Given the description of an element on the screen output the (x, y) to click on. 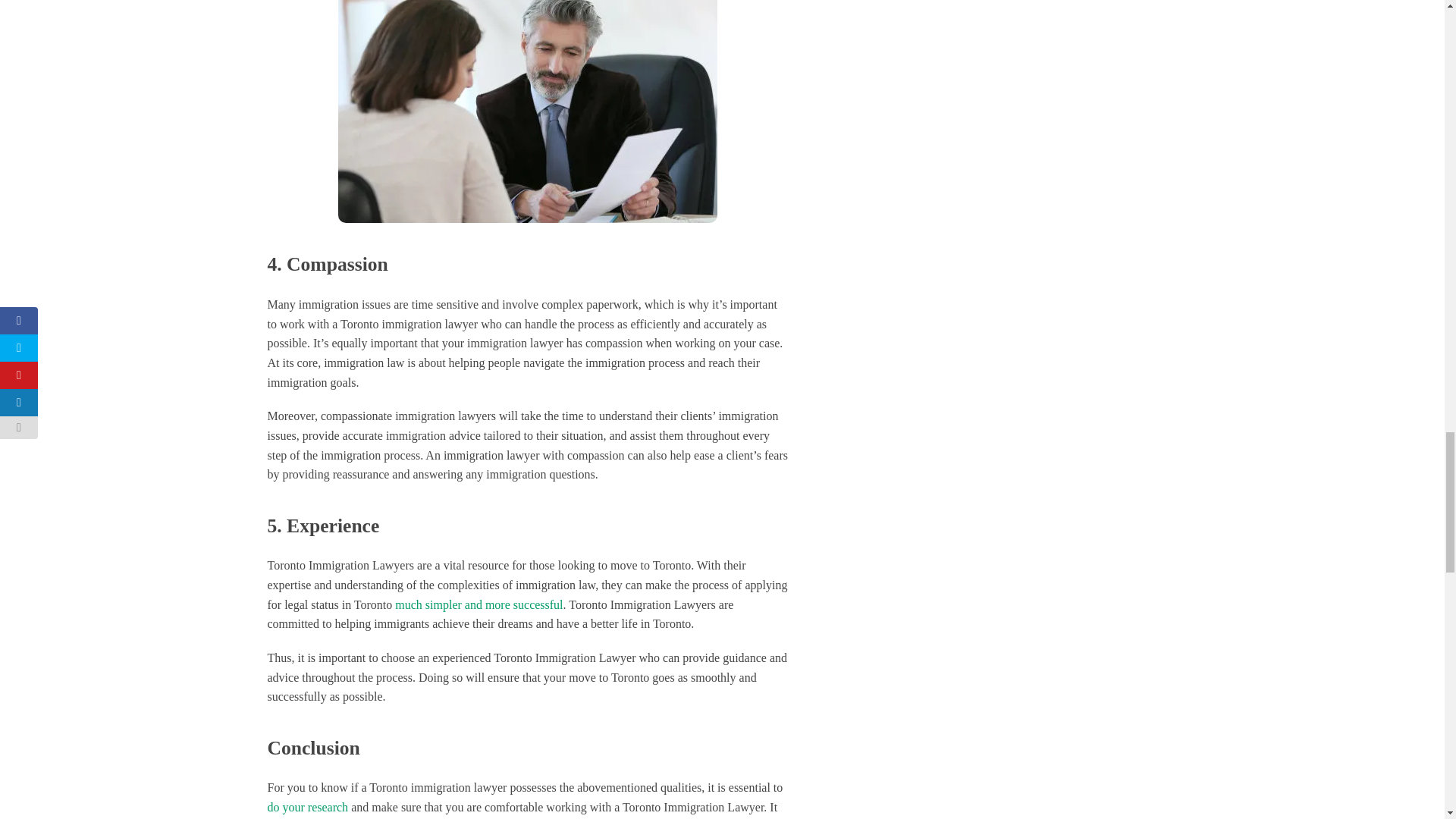
do your research (306, 807)
much simpler and more successful (478, 604)
